Given the description of an element on the screen output the (x, y) to click on. 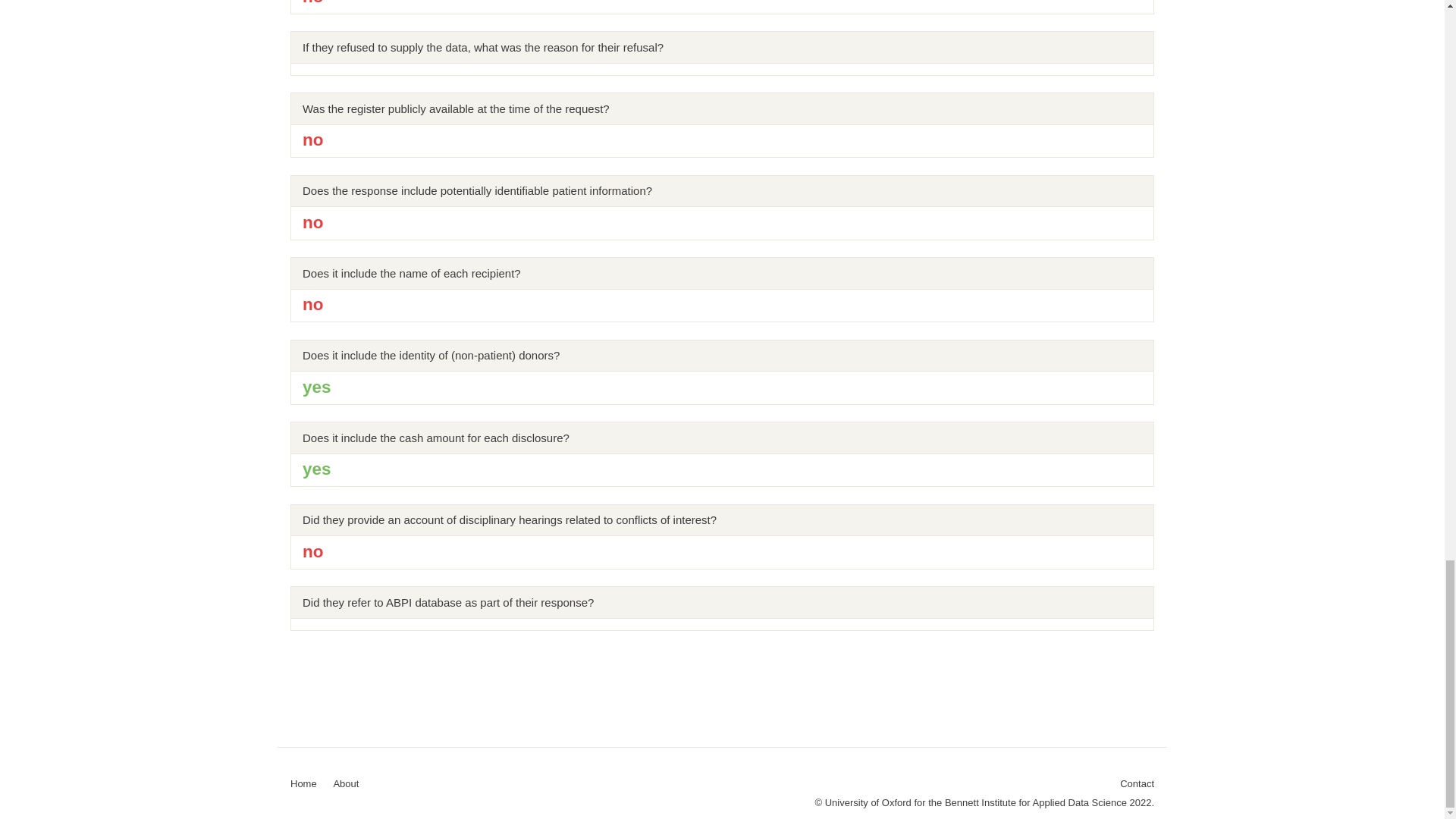
Home (303, 783)
Contact (1136, 783)
About (345, 783)
